Given the description of an element on the screen output the (x, y) to click on. 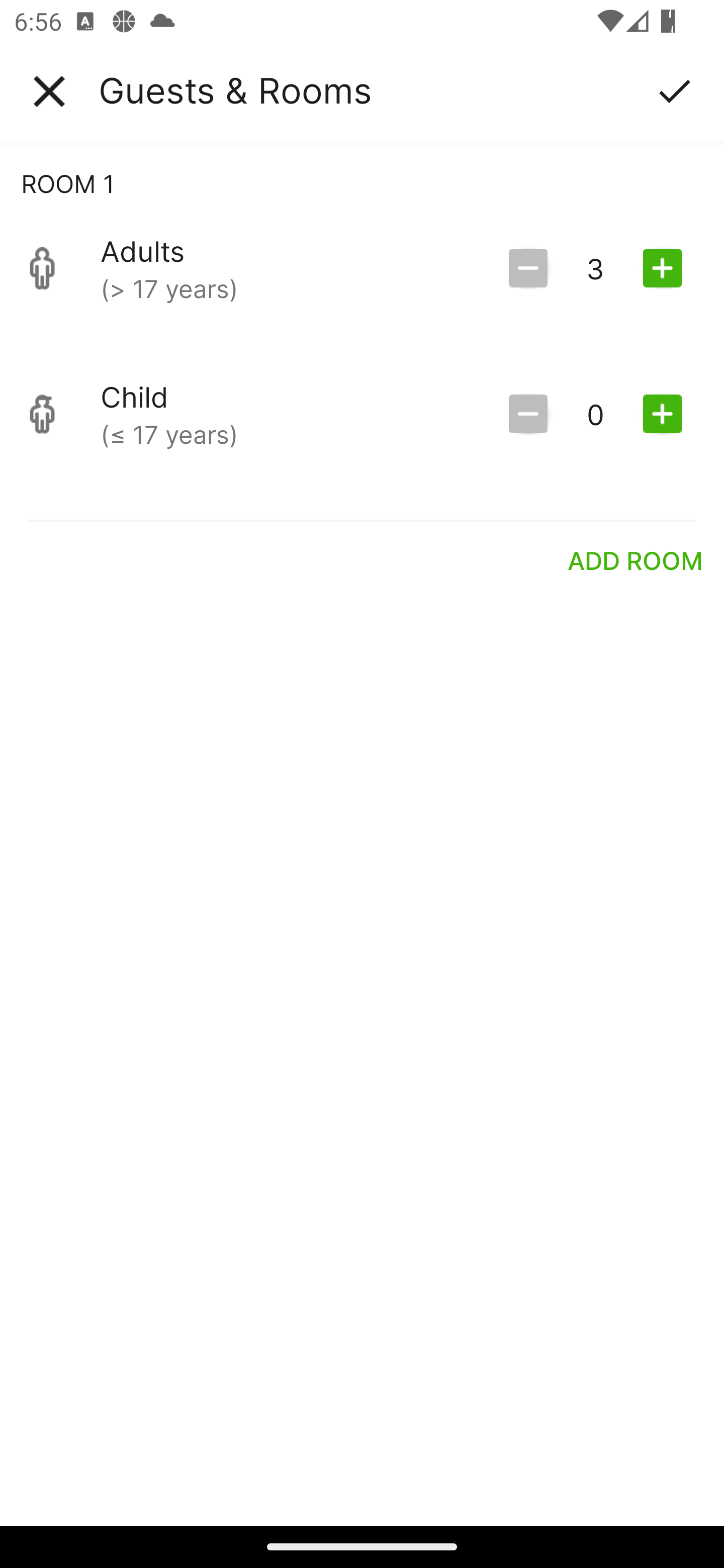
ADD ROOM (635, 560)
